Given the description of an element on the screen output the (x, y) to click on. 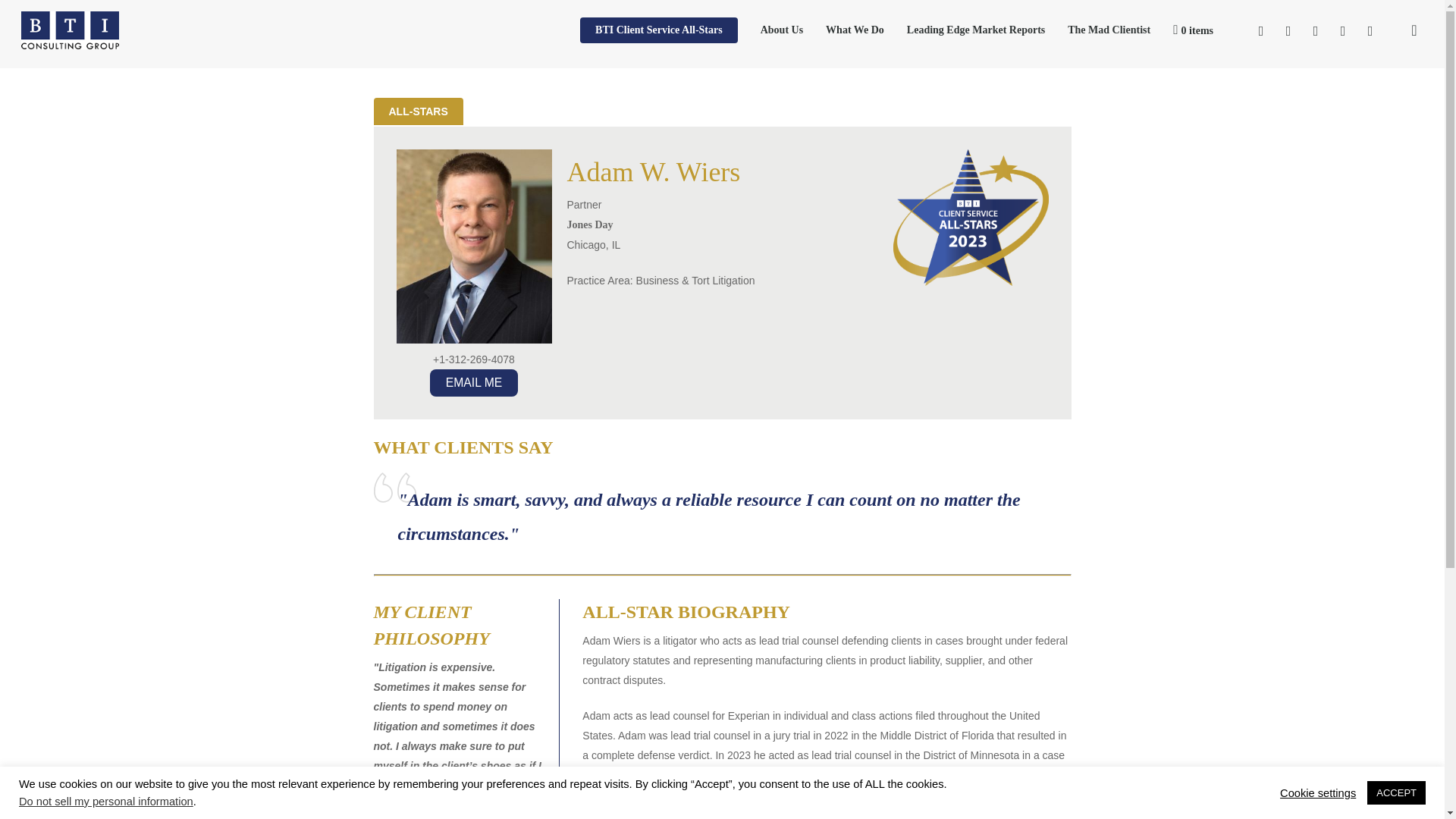
youtube (1315, 30)
linkedin (1288, 30)
0 items (1192, 30)
About Us (781, 29)
phone (1342, 30)
Leading Edge Market Reports (976, 29)
Start shopping (1192, 30)
What We Do (854, 29)
The Mad Clientist (1109, 29)
twitter (1261, 30)
email (1370, 30)
BTI Client Service All-Stars (658, 29)
